Given the description of an element on the screen output the (x, y) to click on. 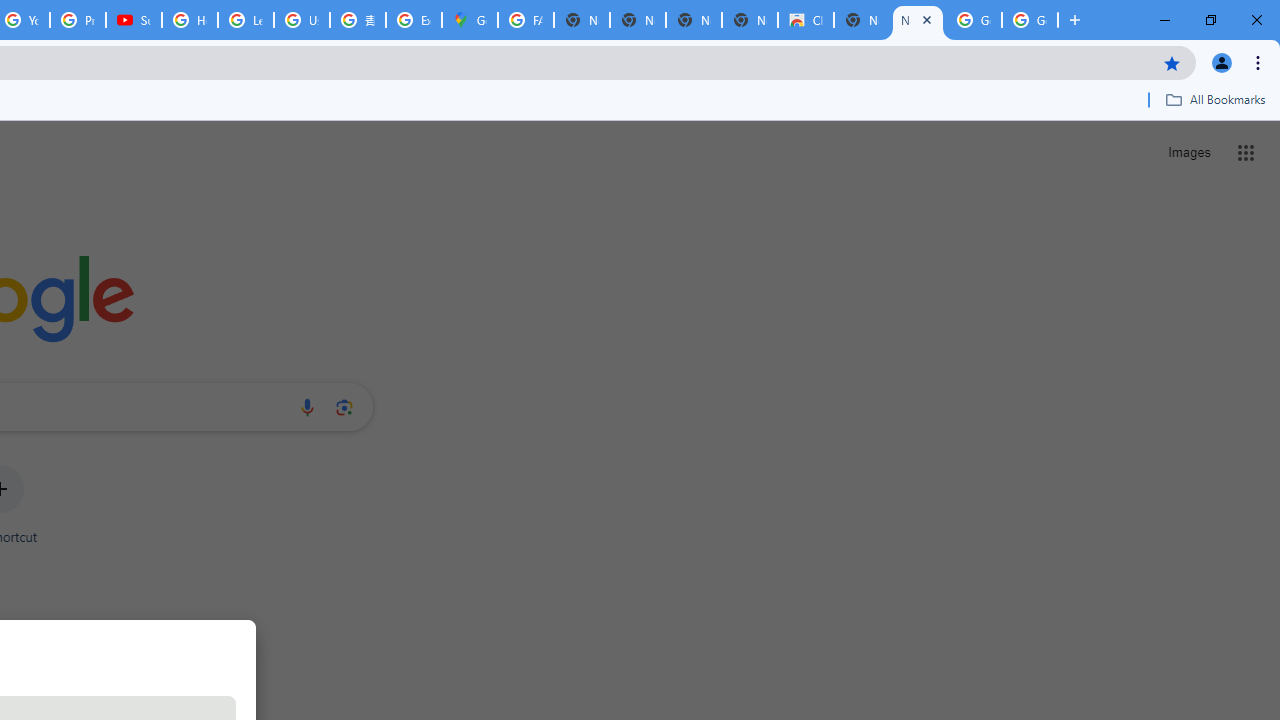
Google Images (1030, 20)
